Given the description of an element on the screen output the (x, y) to click on. 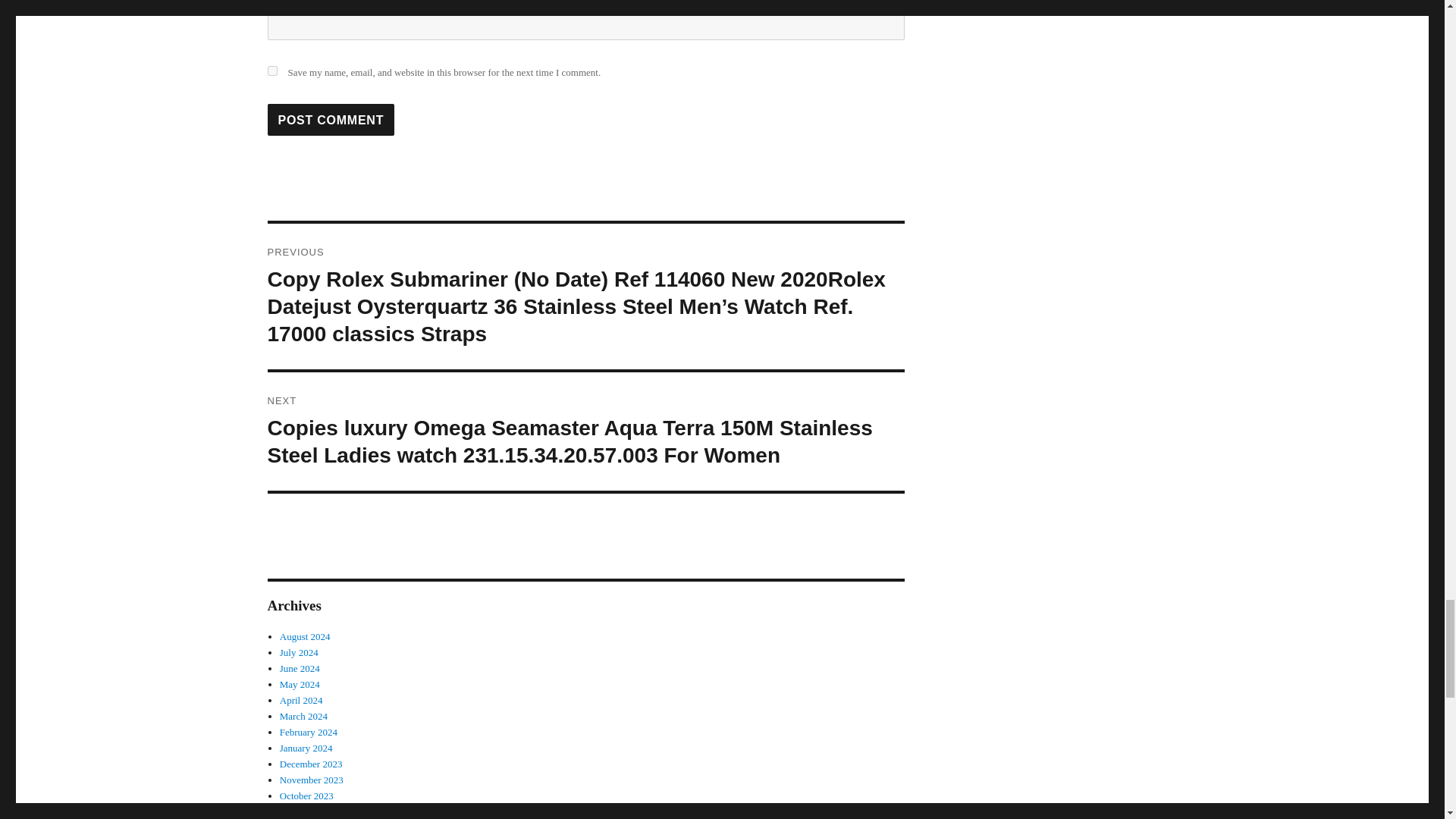
July 2024 (298, 652)
December 2023 (310, 763)
February 2024 (308, 731)
August 2024 (304, 636)
June 2024 (299, 668)
September 2023 (311, 811)
January 2024 (306, 747)
March 2024 (303, 715)
November 2023 (311, 779)
